Given the description of an element on the screen output the (x, y) to click on. 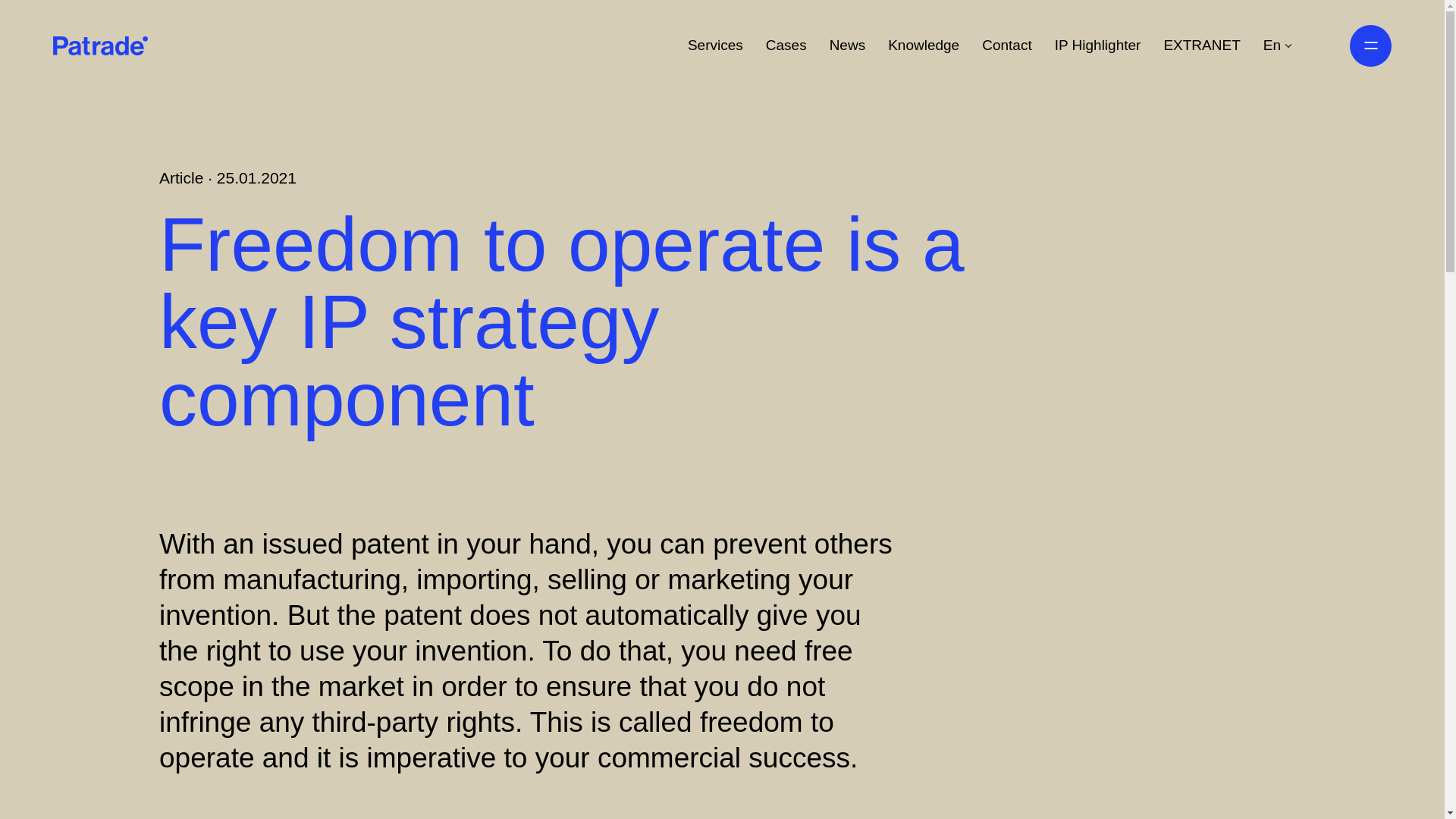
Contact (1005, 45)
Services (714, 45)
IP Highlighter (1097, 45)
Cases (785, 45)
Knowledge (923, 45)
Contact (1005, 45)
EXTRANET (1201, 45)
En (1277, 45)
EXTRANET (1201, 45)
